Given the description of an element on the screen output the (x, y) to click on. 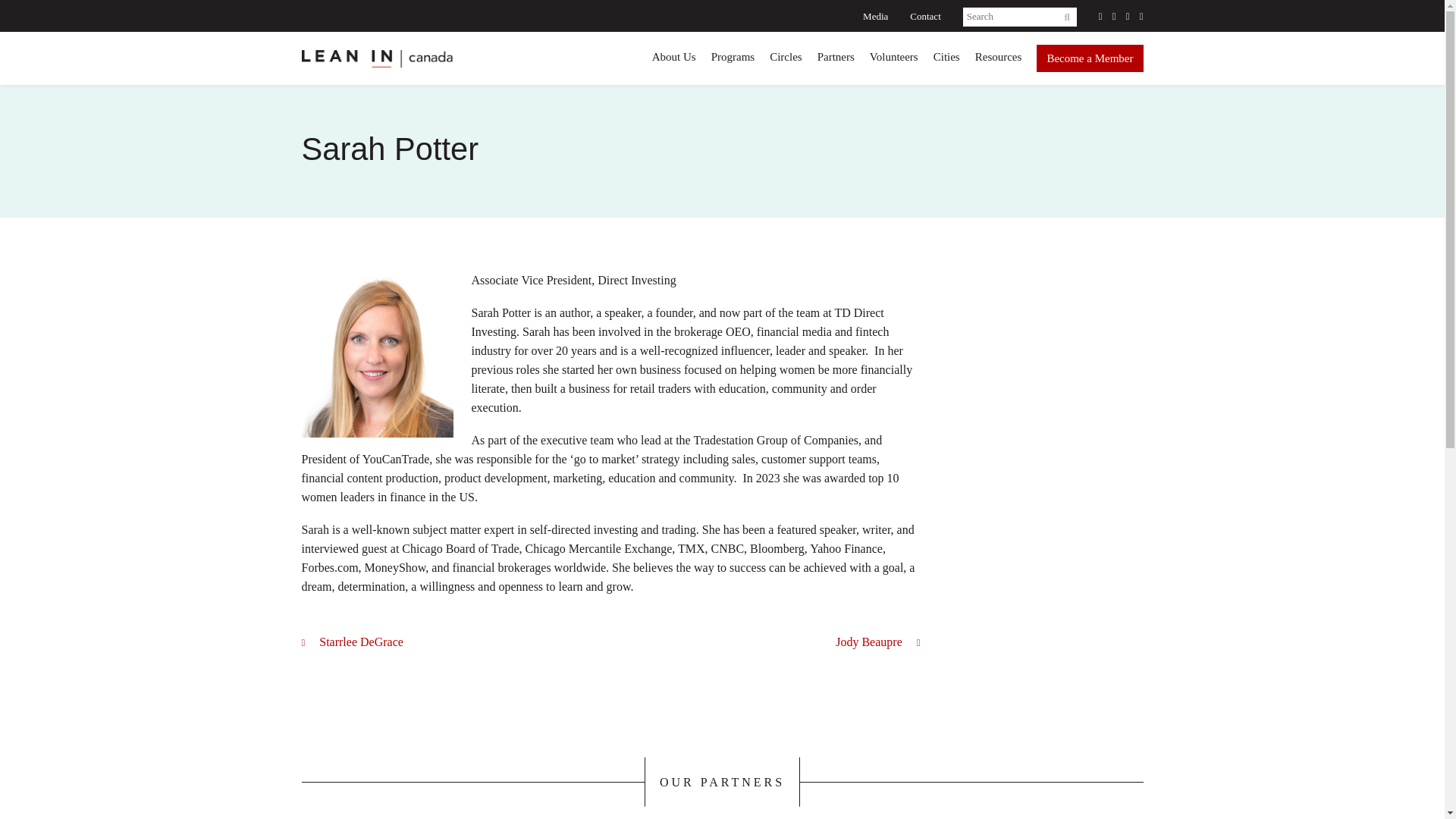
Contact (925, 16)
Resources (998, 57)
Circles (786, 57)
Become a Member (1089, 58)
Programs (733, 57)
Jody Beaupre (877, 641)
Starrlee DeGrace (352, 641)
About Us (673, 57)
Media (875, 16)
Partners (835, 57)
